Given the description of an element on the screen output the (x, y) to click on. 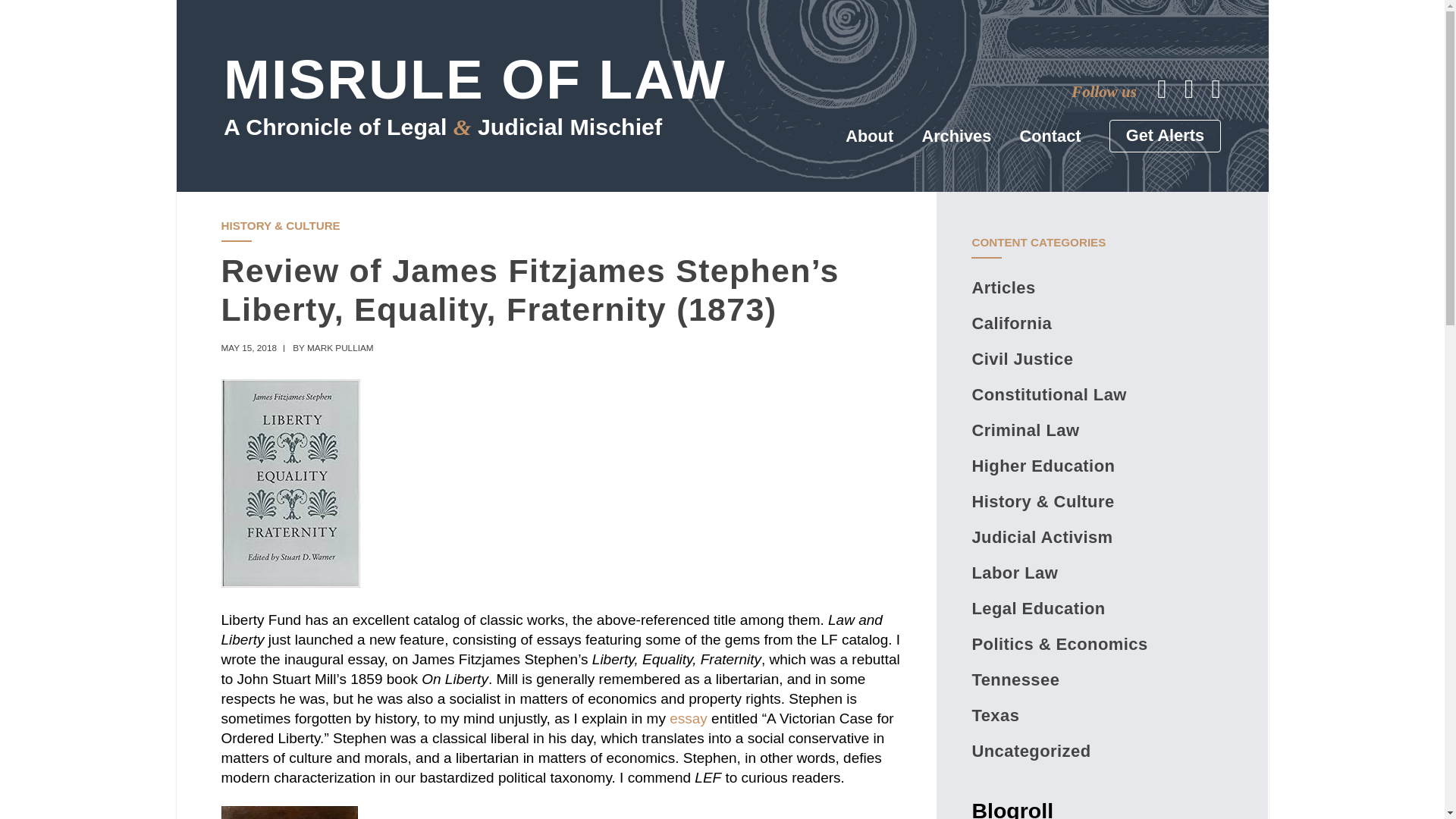
Articles (1003, 287)
Uncategorized (1030, 751)
Get Alerts (1165, 135)
Labor Law (1014, 572)
Contact (1050, 136)
Archives (956, 136)
Criminal Law (1024, 429)
About (869, 136)
Legal Education (1038, 608)
Civil Justice (1022, 358)
Higher Education (1043, 465)
Tennessee (1015, 679)
California (1011, 322)
Constitutional Law (1048, 394)
essay (688, 718)
